Given the description of an element on the screen output the (x, y) to click on. 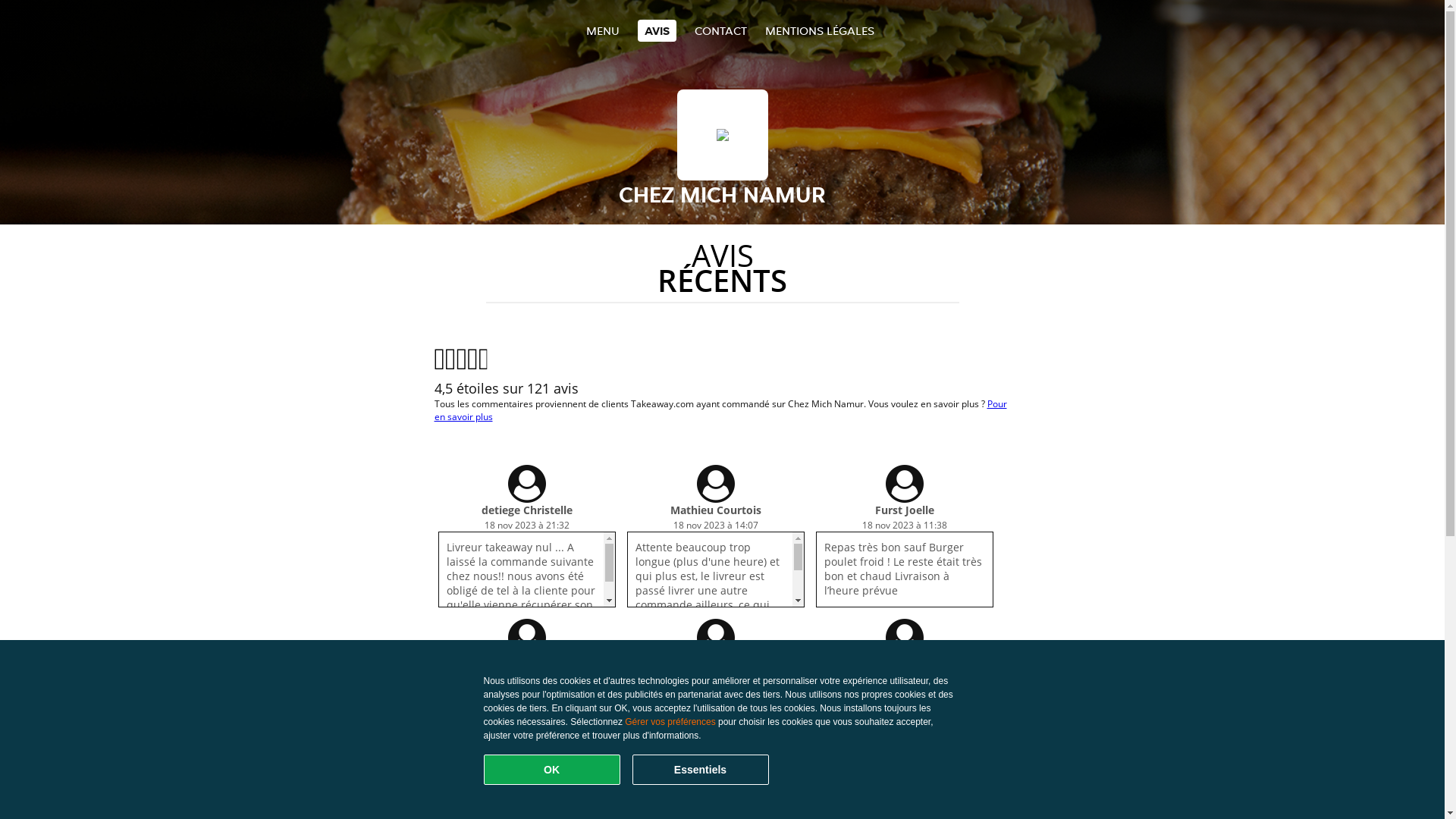
OK Element type: text (551, 769)
Pour en savoir plus Element type: text (719, 410)
MENU Element type: text (601, 30)
Essentiels Element type: text (700, 769)
AVIS Element type: text (656, 30)
CONTACT Element type: text (720, 30)
